Given the description of an element on the screen output the (x, y) to click on. 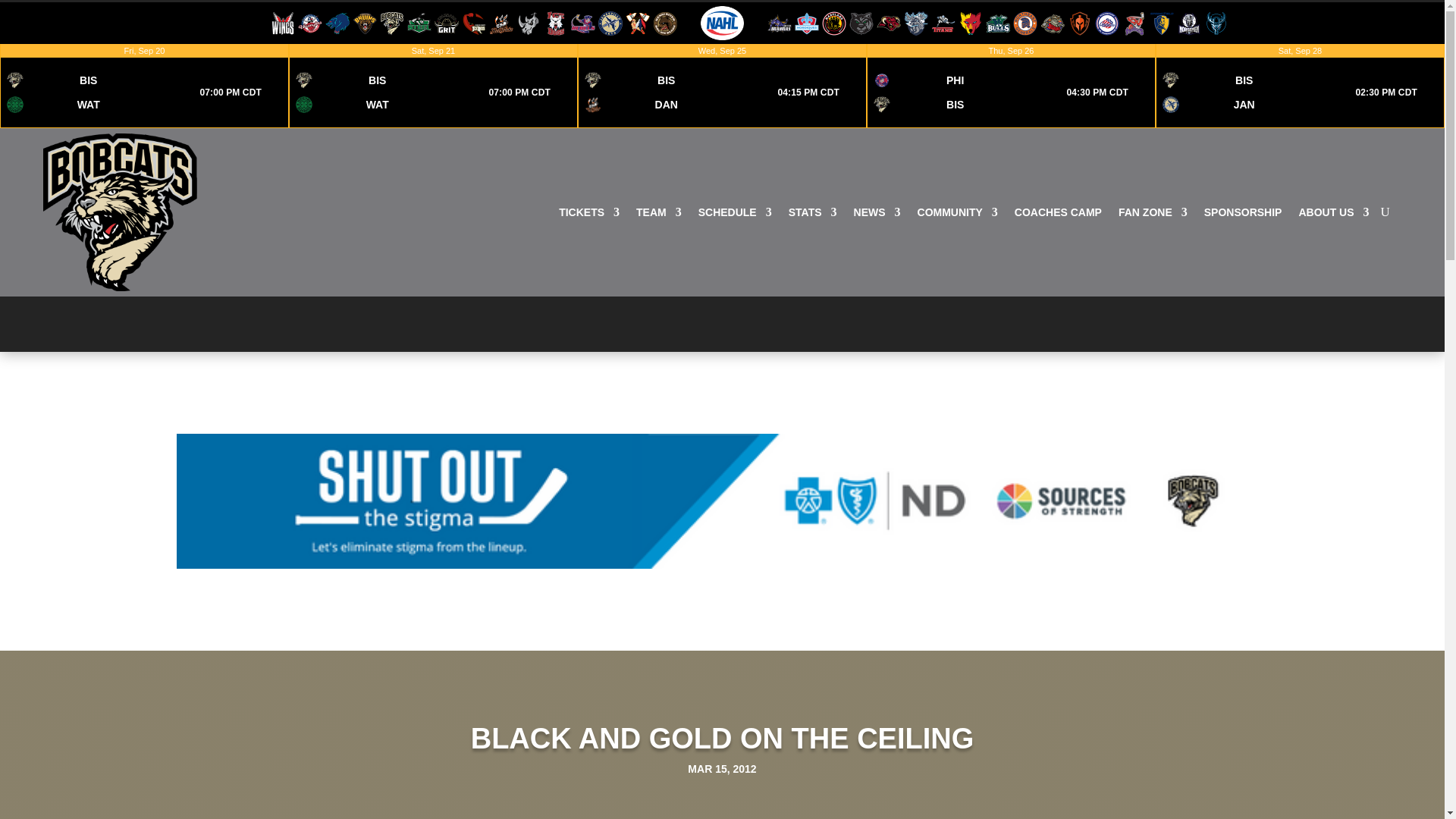
Lone Star Brahmas (779, 21)
Bismarck Bobcats (392, 21)
Johnstown Tomahawks (637, 21)
Danbury Jr. Hat Tricks (501, 21)
Amarillo Wranglers (1011, 85)
El Paso Rhinos (310, 21)
Kenai River Brown Bears (528, 21)
Aberdeen Wings (664, 21)
Janesville Jets (283, 21)
Jamestown Rebels (610, 21)
Austin Bruins (582, 21)
Fairbanks Ice Dogs (144, 85)
Corpus Christi Ice Rays (364, 21)
